Given the description of an element on the screen output the (x, y) to click on. 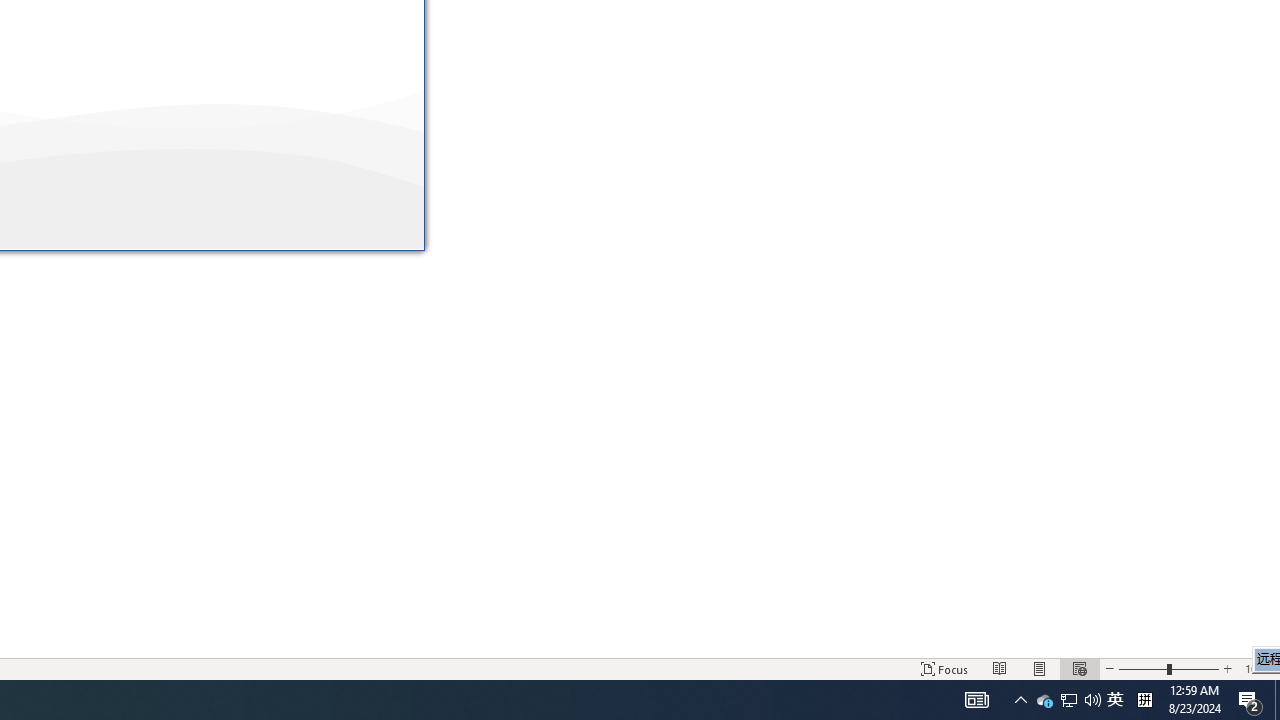
Tray Input Indicator - Chinese (Simplified, China) (1144, 699)
Zoom 100% (1258, 668)
